Given the description of an element on the screen output the (x, y) to click on. 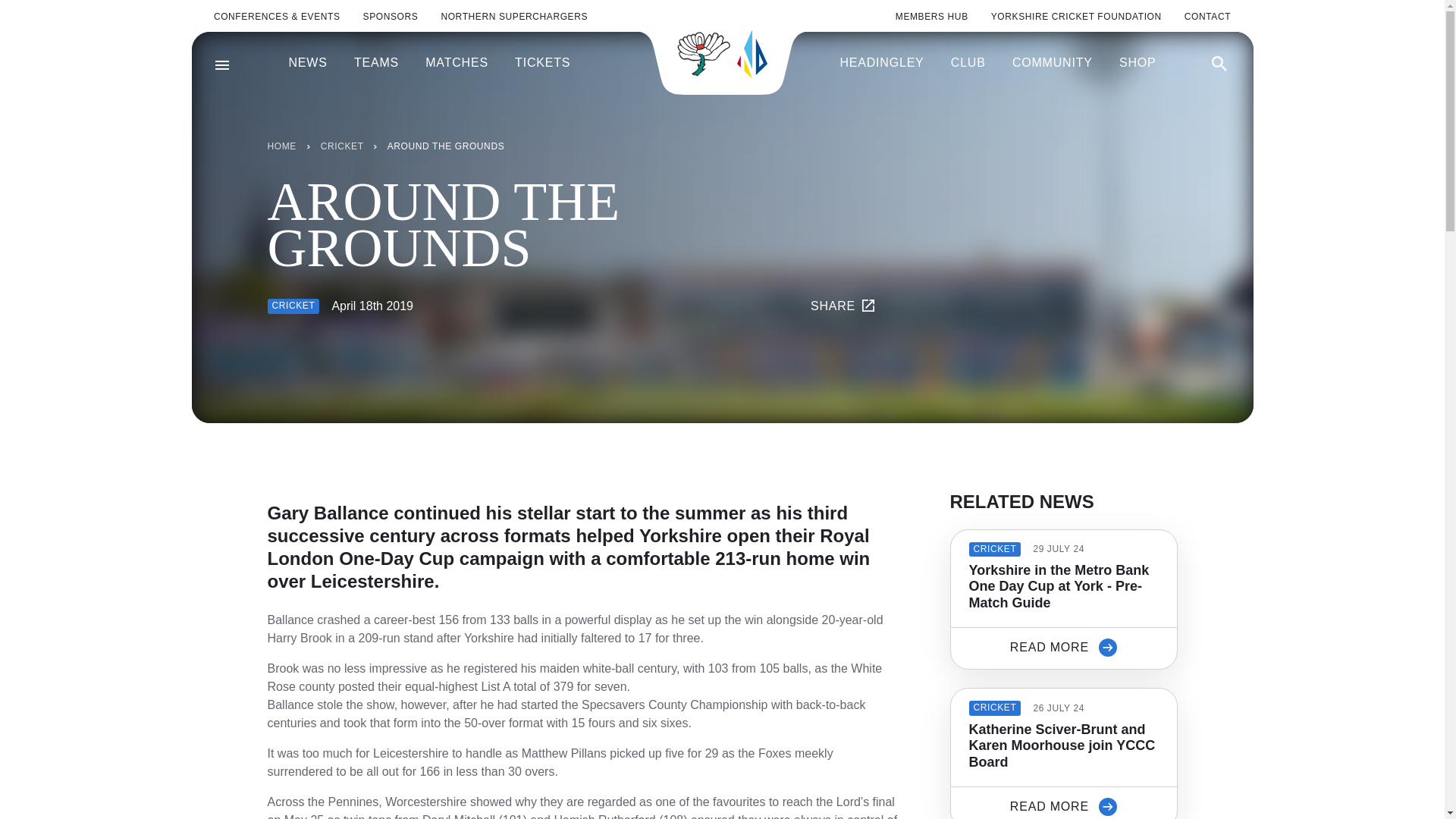
YORKSHIRE CRICKET FOUNDATION (1076, 16)
HEADINGLEY (881, 62)
NORTHERN SUPERCHARGERS (514, 16)
TICKETS (542, 62)
NEWS (307, 62)
Yorkshire County Cricket Club (721, 53)
MATCHES (456, 62)
SPONSORS (390, 16)
TEAMS (375, 62)
CONTACT (1207, 16)
MEMBERS HUB (931, 16)
